Given the description of an element on the screen output the (x, y) to click on. 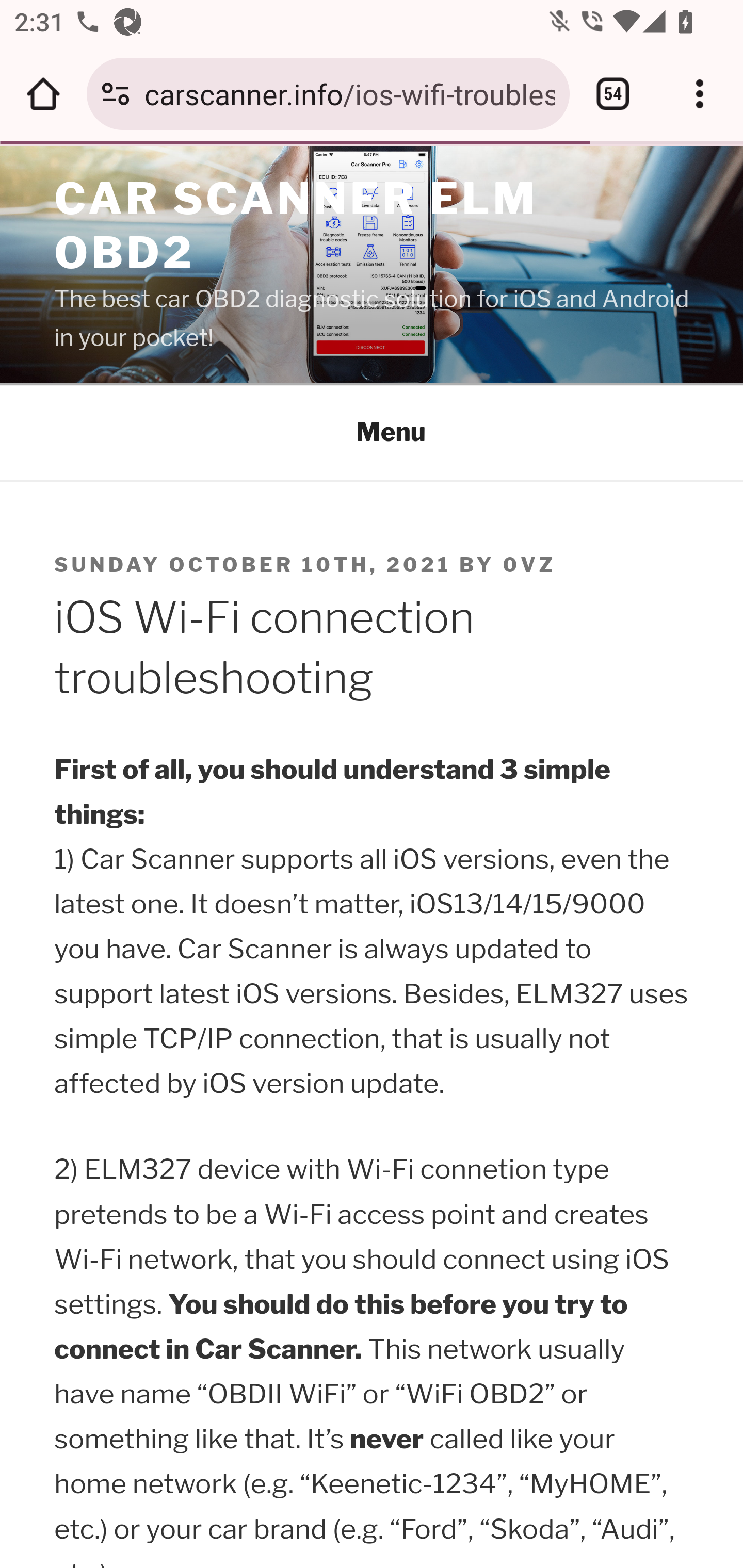
Open the home page (43, 93)
Connection is secure (115, 93)
Switch or close tabs (612, 93)
Customize and control Google Chrome (699, 93)
carscanner.info/ios-wifi-troubleshooting/ (349, 92)
Menu (372, 431)
SUNDAY OCTOBER 10TH, 2021 (253, 564)
0VZ (529, 564)
